Given the description of an element on the screen output the (x, y) to click on. 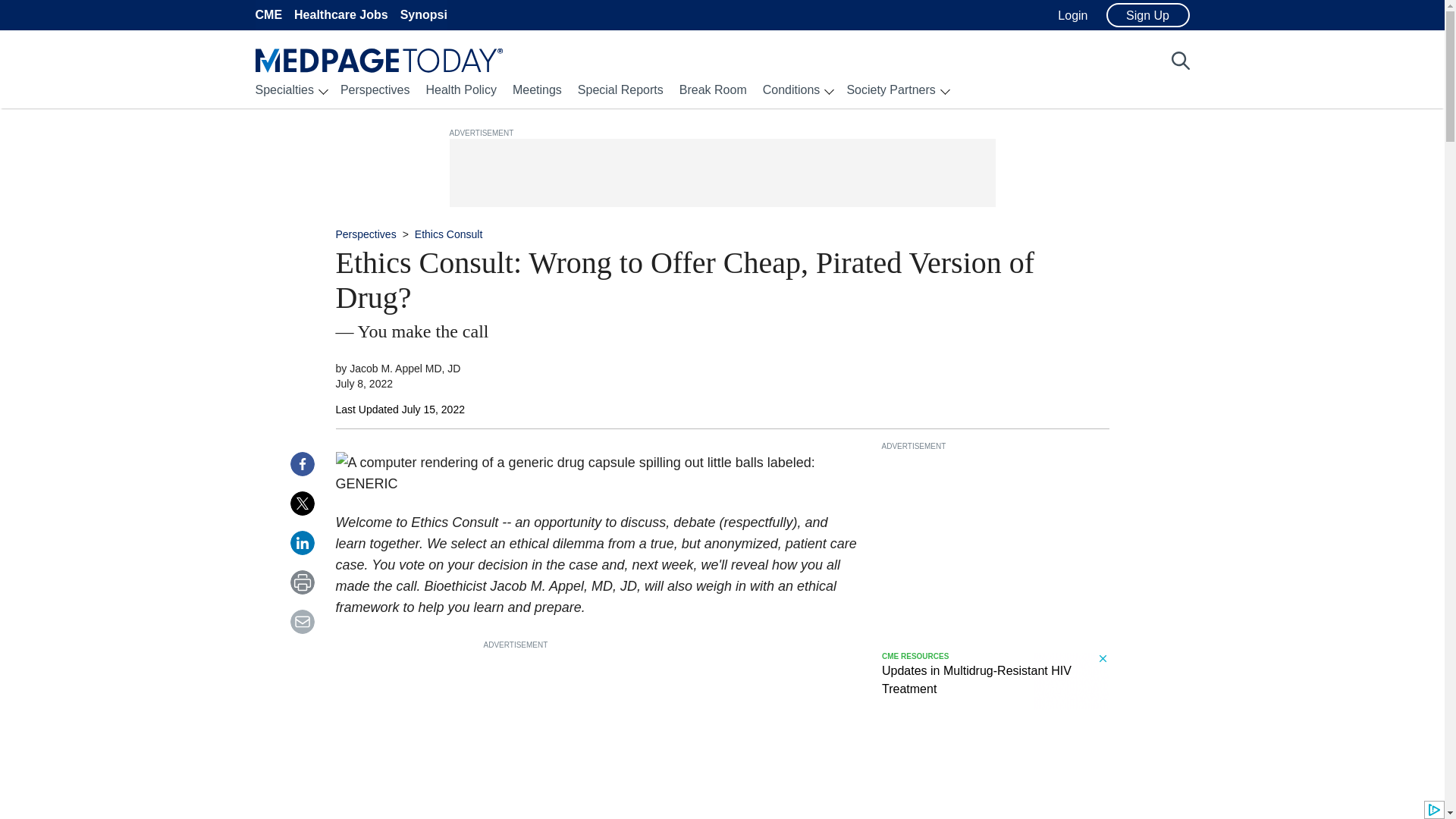
3rd party ad content (724, 172)
CME (268, 14)
Specialties (283, 89)
Healthcare Jobs (341, 14)
Share on LinkedIn. Opens in a new tab or window (301, 542)
Synopsi (423, 14)
3rd party ad content (994, 680)
3rd party ad content (597, 735)
Share on X. Opens in a new tab or window (301, 503)
Share on Facebook. Opens in a new tab or window (301, 463)
